Given the description of an element on the screen output the (x, y) to click on. 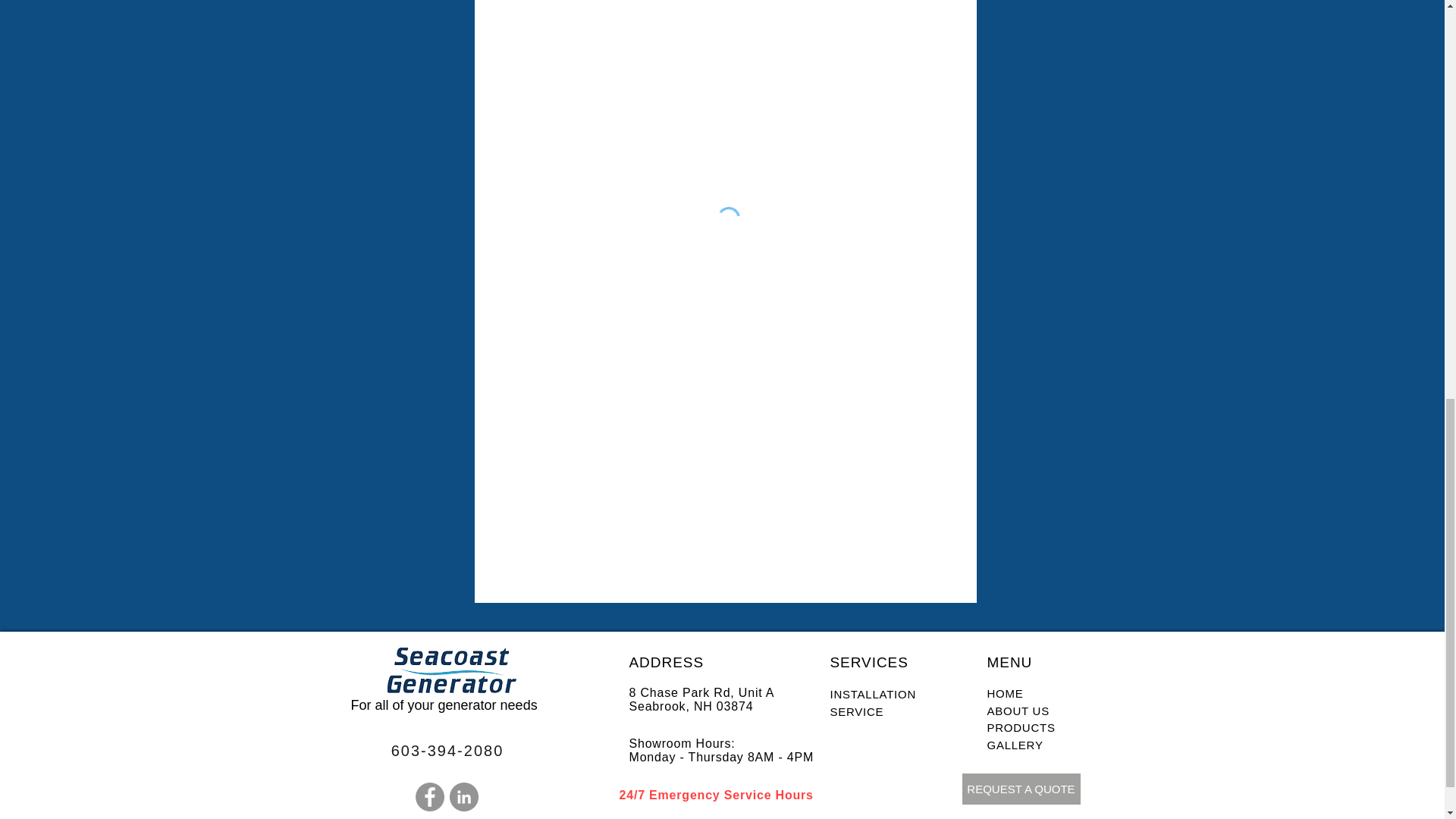
REQUEST A QUOTE (1020, 788)
HOME (1005, 693)
PRODUCTS (1021, 727)
ABOUT US (1018, 709)
GALLERY  (1016, 744)
SERVICE (856, 711)
INSTALLATION  (873, 694)
